Given the description of an element on the screen output the (x, y) to click on. 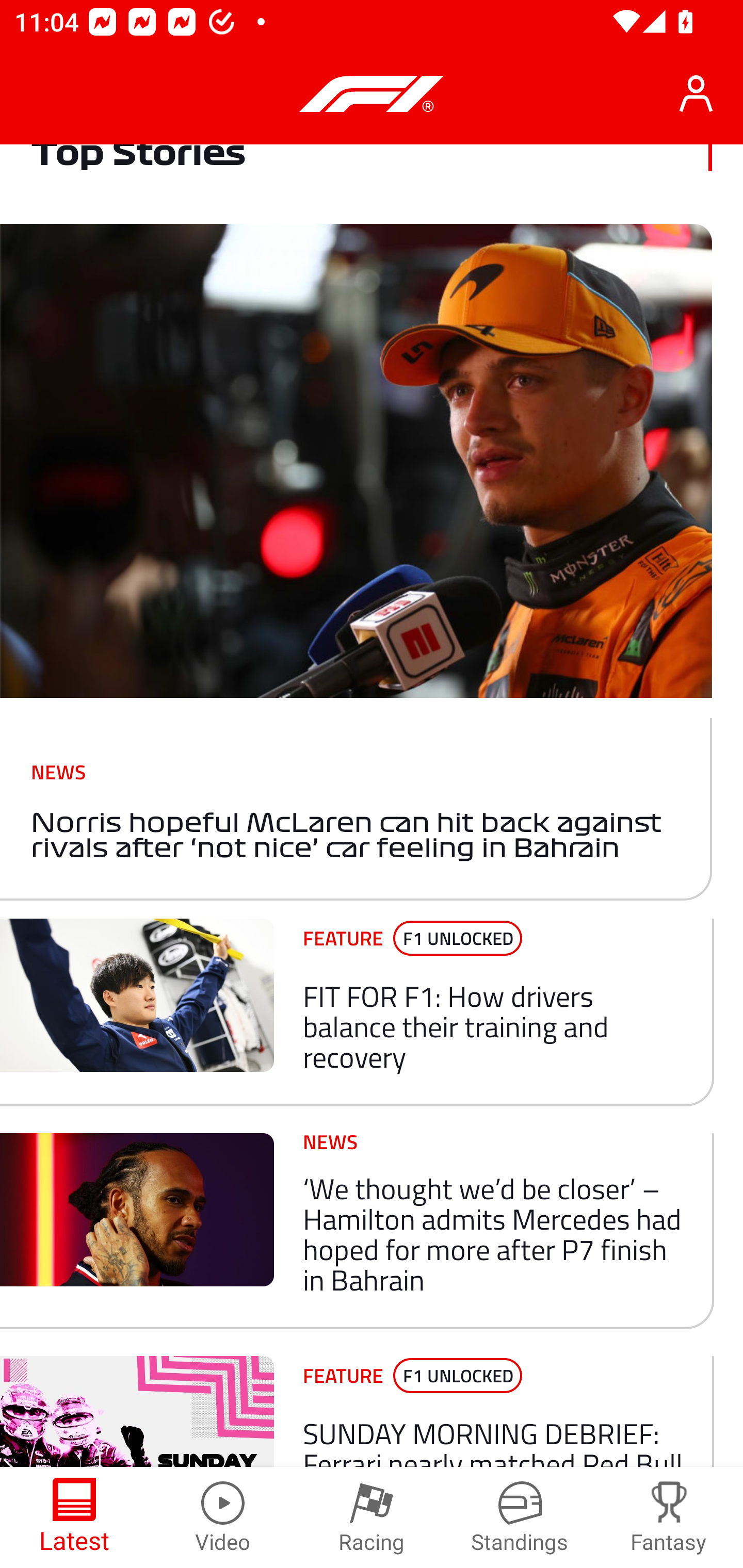
Video (222, 1517)
Racing (371, 1517)
Standings (519, 1517)
Fantasy (668, 1517)
